Given the description of an element on the screen output the (x, y) to click on. 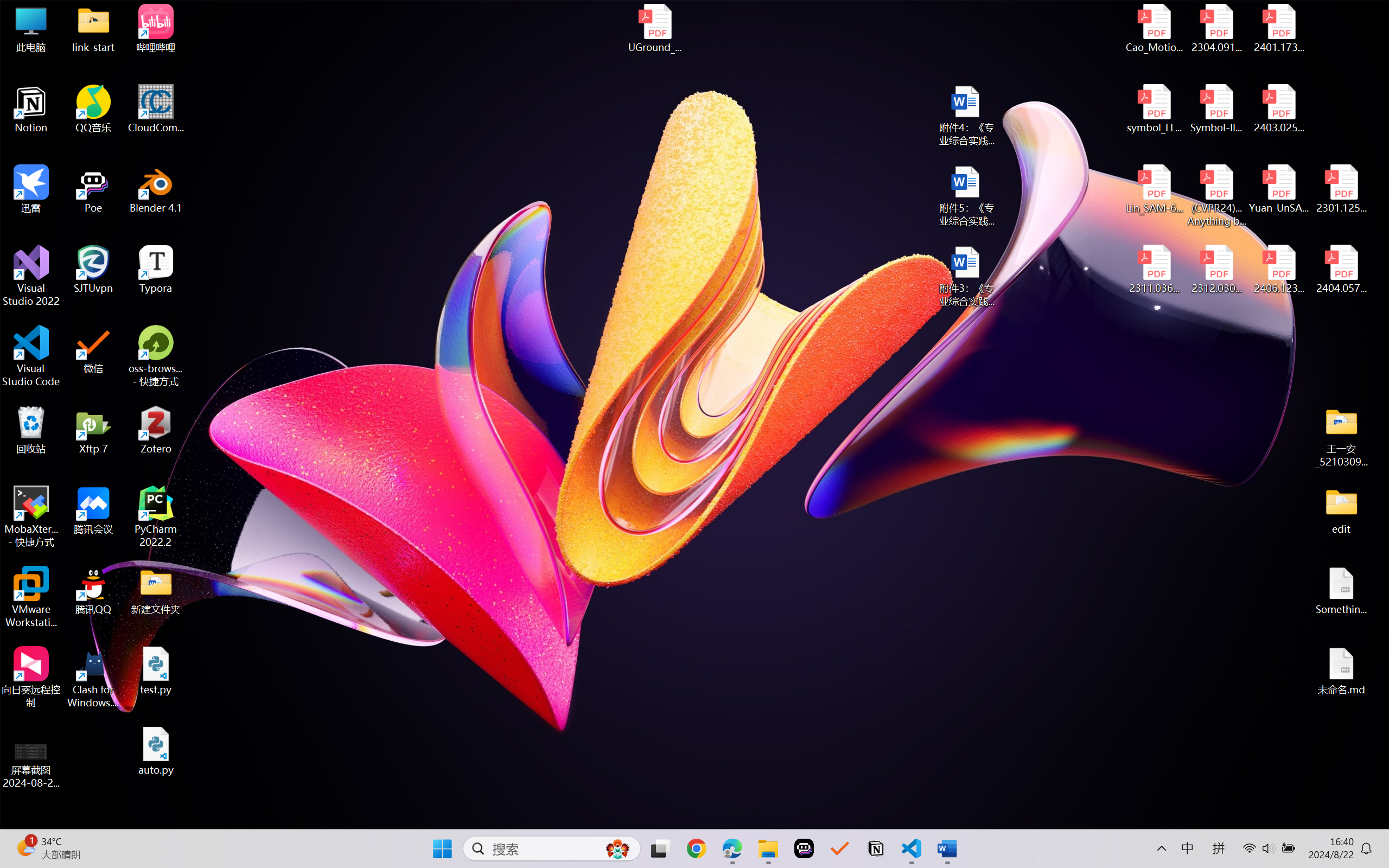
Visual Studio Code (31, 355)
PyCharm 2022.2 (156, 516)
2304.09121v3.pdf (1216, 28)
2312.03032v2.pdf (1216, 269)
Something.md (1340, 591)
